Given the description of an element on the screen output the (x, y) to click on. 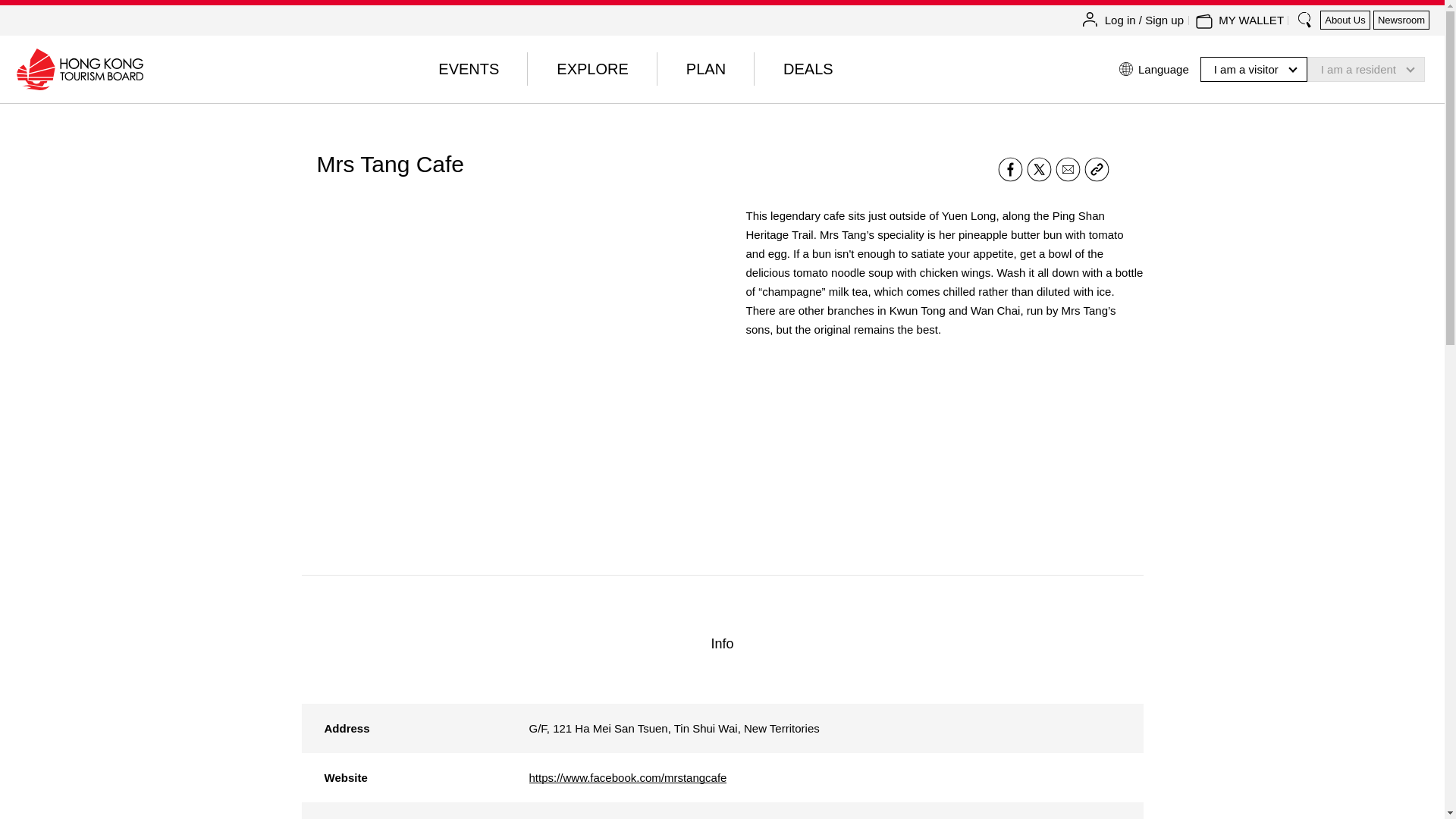
Newsroom (1401, 19)
EXPLORE (591, 69)
Hong Kong Tourism Board (79, 68)
About Us (1345, 19)
PLAN (706, 69)
MY WALLET (1251, 20)
